Given the description of an element on the screen output the (x, y) to click on. 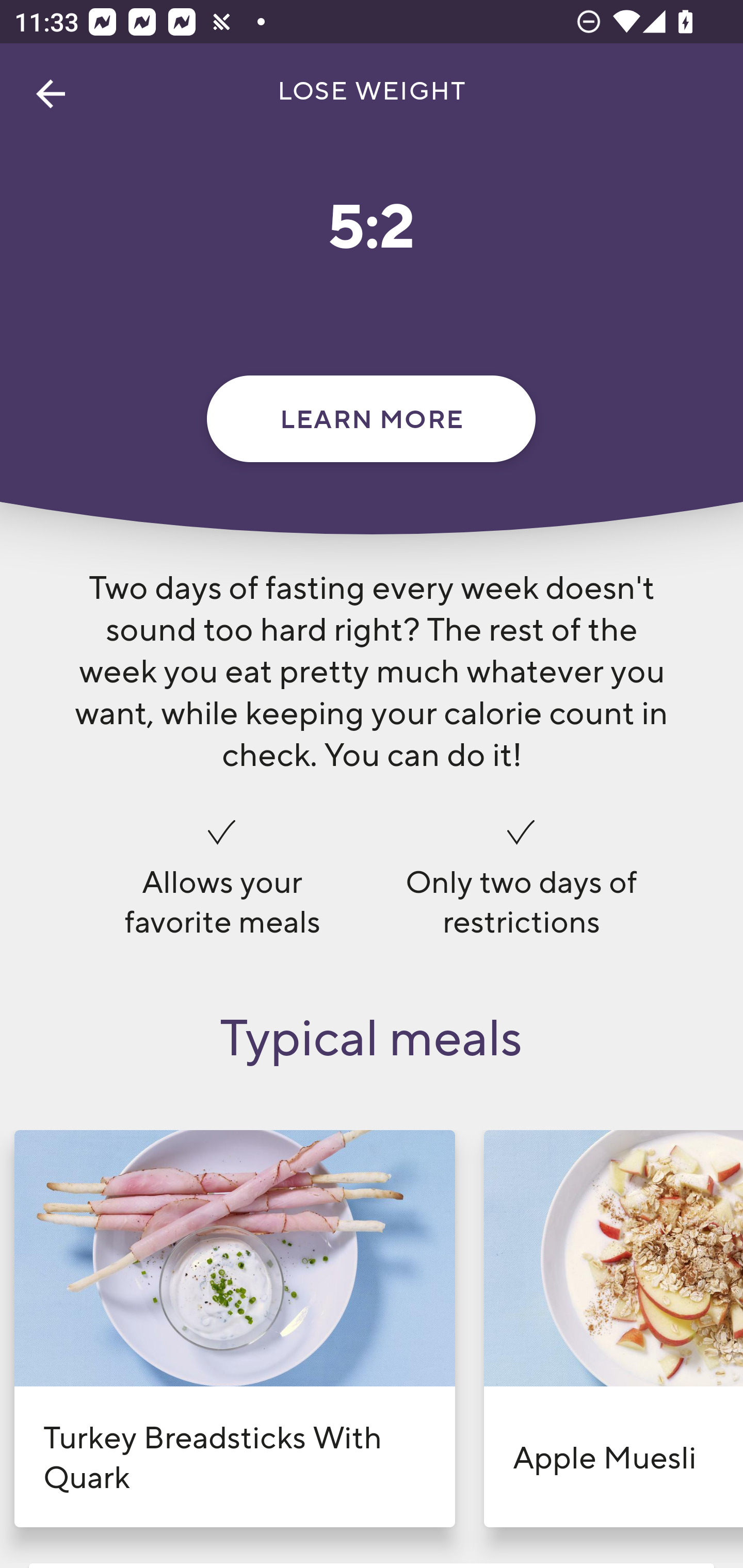
Navigate up (50, 93)
LEARN MORE (370, 418)
Turkey Breadsticks With Quark (234, 1328)
Apple Muesli (613, 1328)
